Given the description of an element on the screen output the (x, y) to click on. 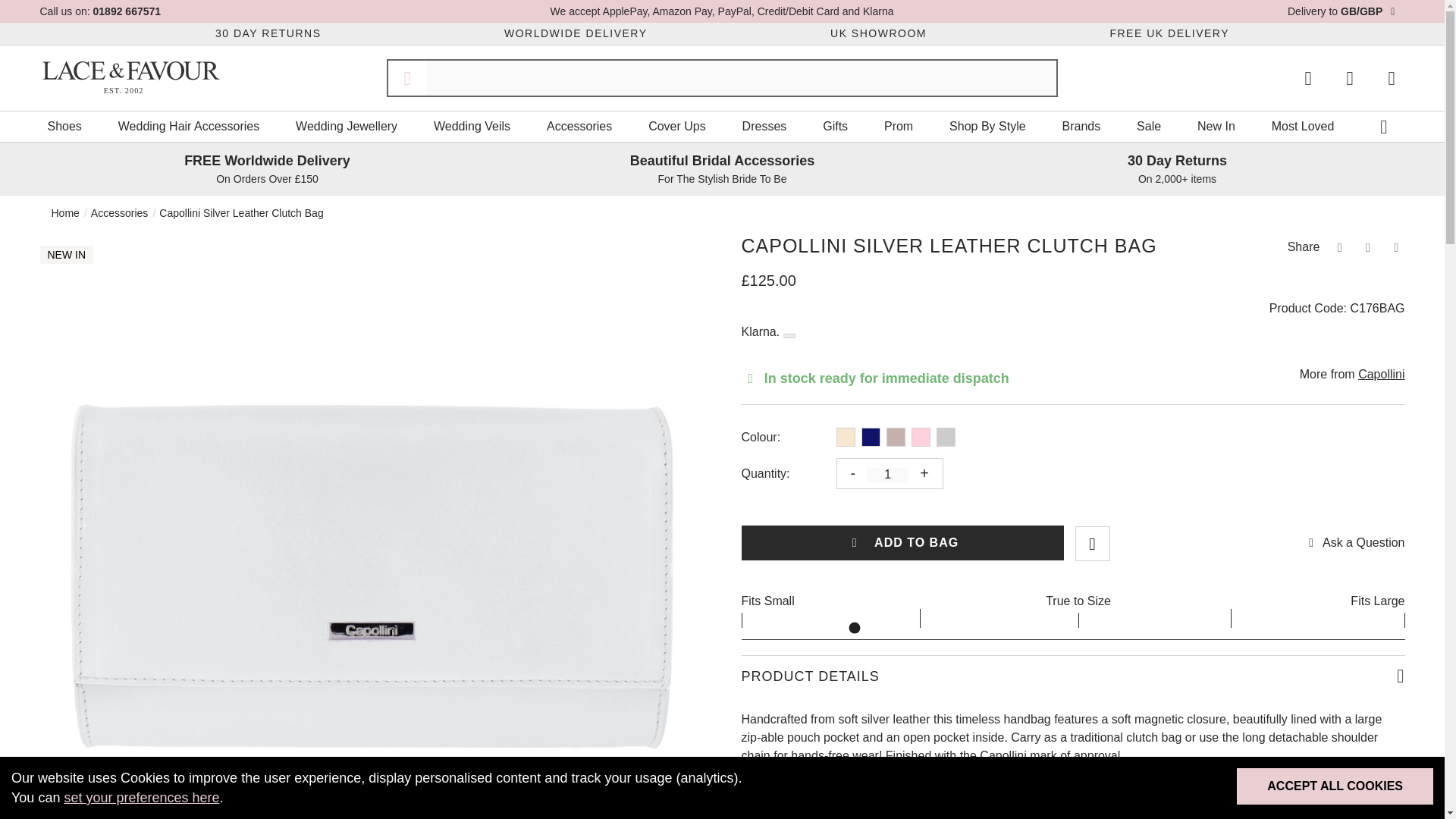
01892 667571 (127, 10)
View This Product in Navy (870, 436)
View This Product in Nude (894, 436)
View This Product in Pink (920, 436)
Shoes (63, 125)
1 (887, 474)
View This Product in Champagne (844, 436)
View This Product in Silver (945, 436)
